Given the description of an element on the screen output the (x, y) to click on. 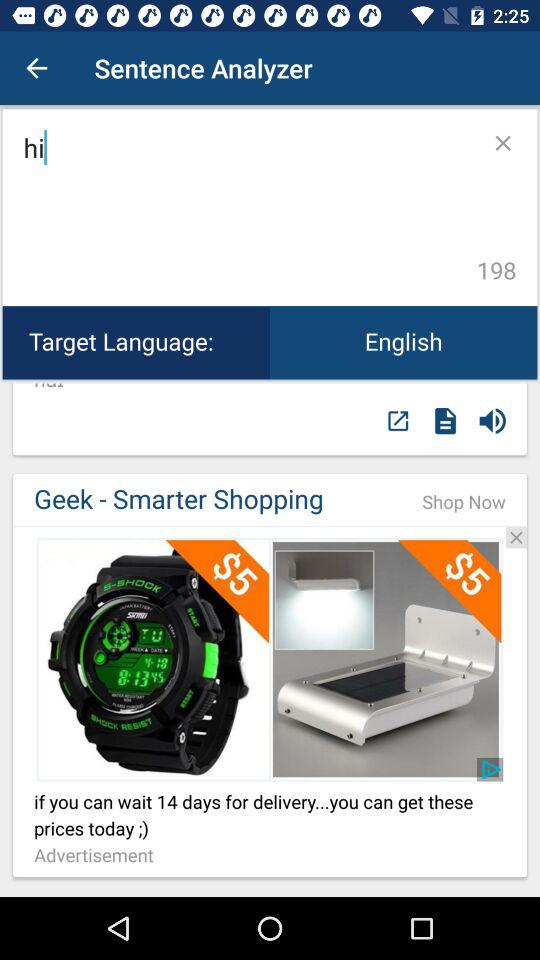
turn off the advertisement (99, 855)
